Given the description of an element on the screen output the (x, y) to click on. 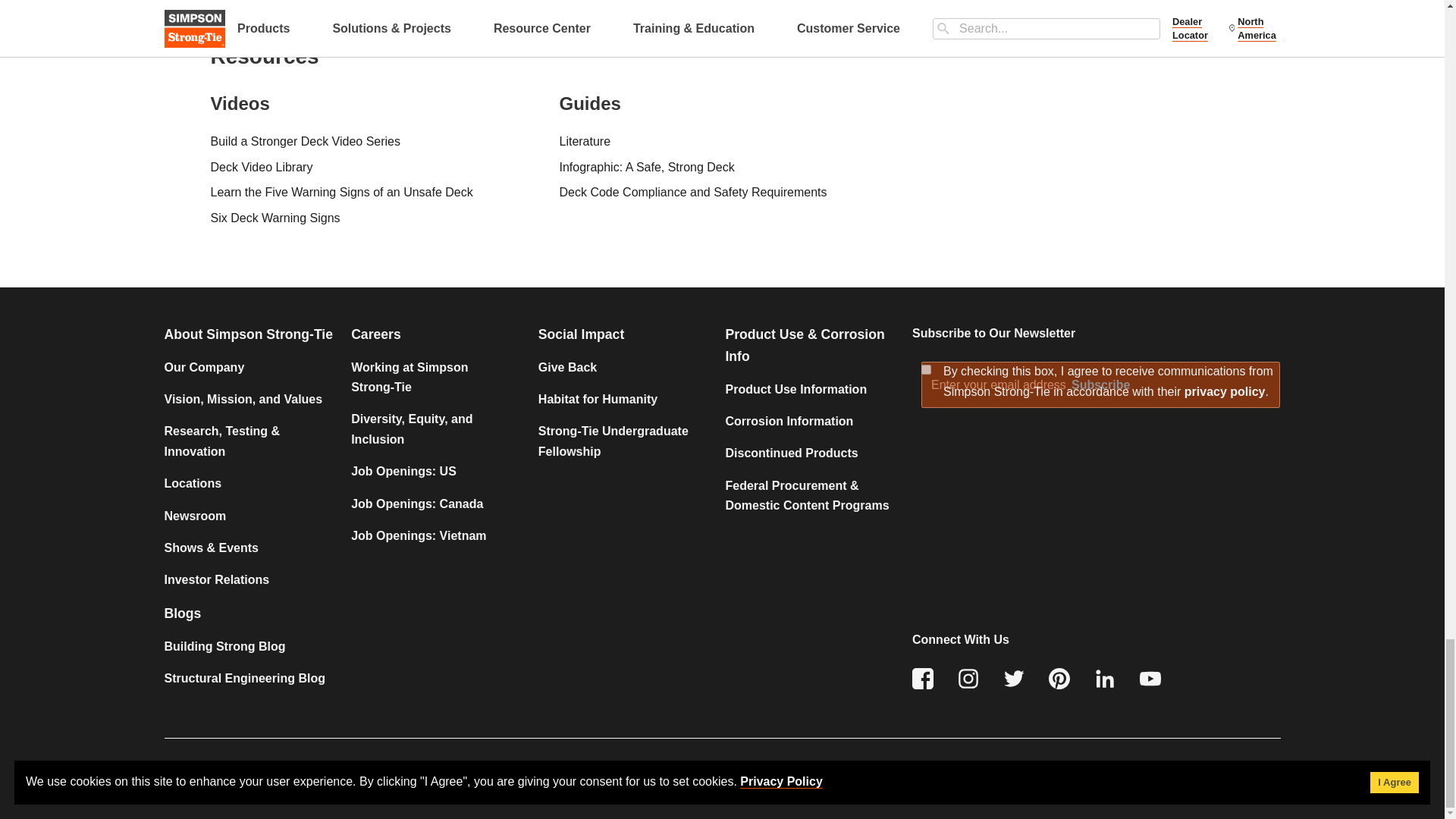
true (926, 369)
